Given the description of an element on the screen output the (x, y) to click on. 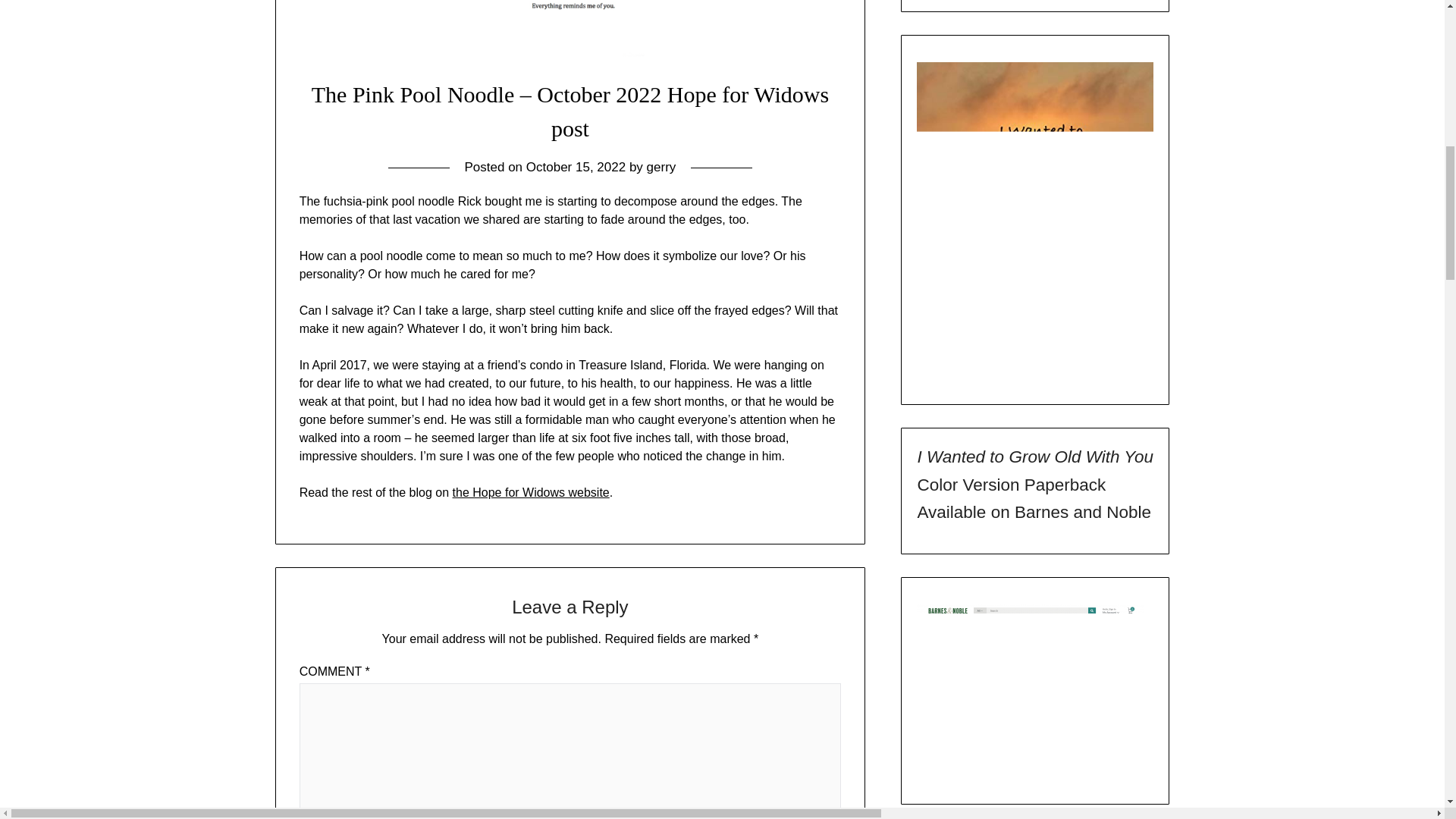
the Hope for Widows website (531, 492)
gerry (661, 166)
October 15, 2022 (575, 166)
